Given the description of an element on the screen output the (x, y) to click on. 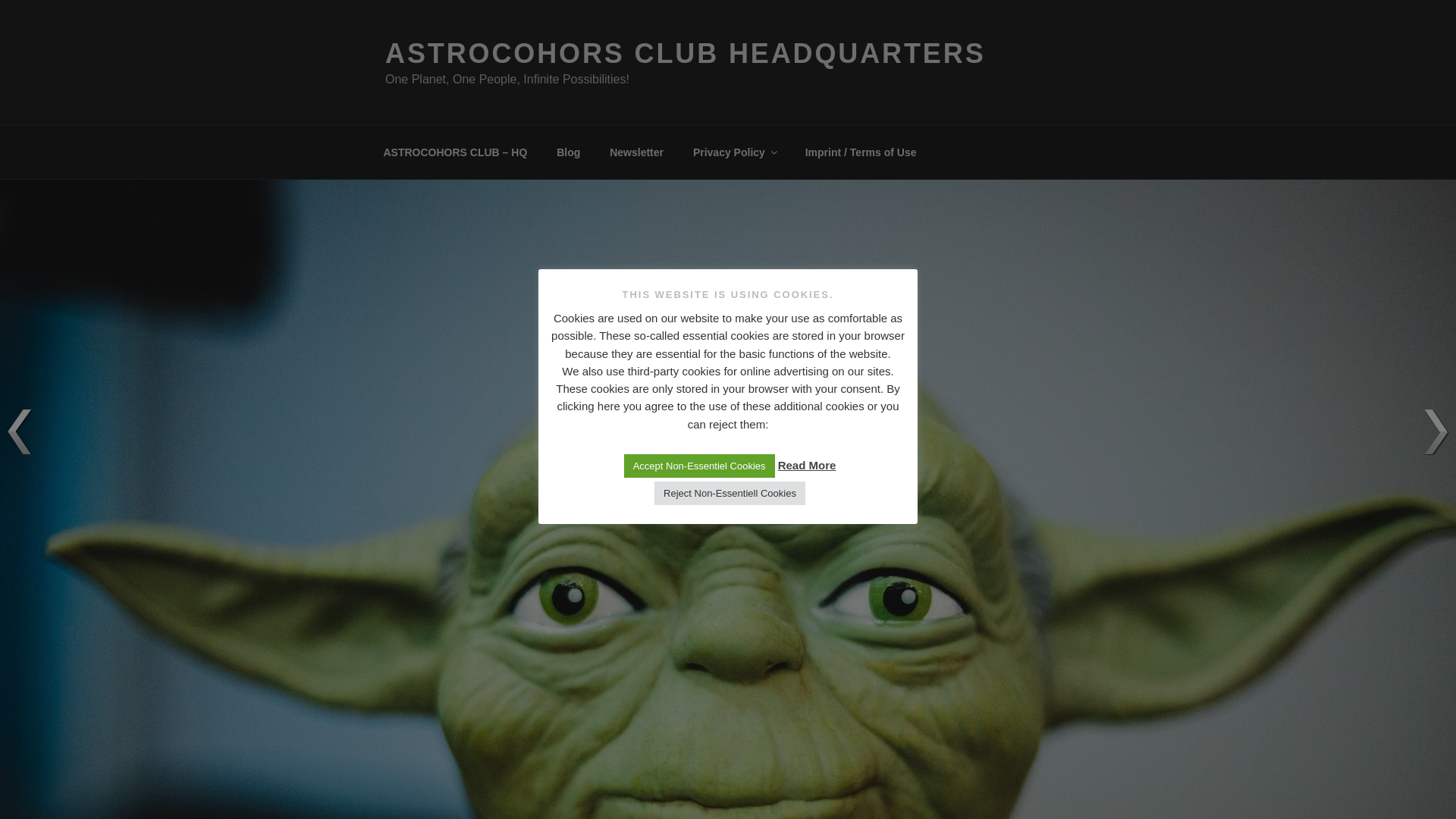
Newsletter (636, 151)
Privacy Policy (734, 151)
ASTROCOHORS CLUB HEADQUARTERS (685, 52)
Blog (568, 151)
